Given the description of an element on the screen output the (x, y) to click on. 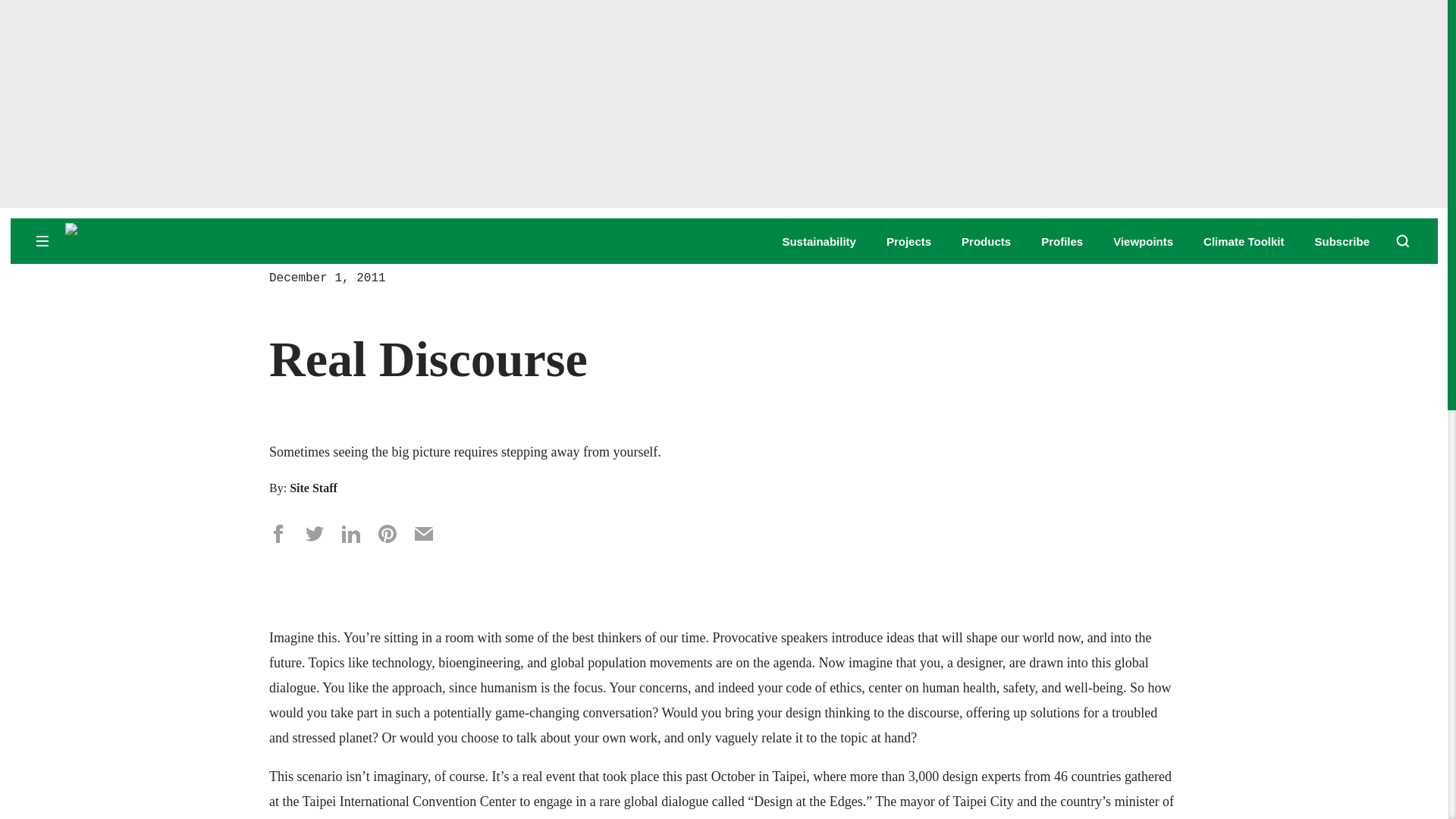
Climate Toolkit (1244, 241)
Projects (908, 241)
Products (985, 241)
Subscribe (1342, 241)
Sustainability (818, 241)
METROPOLIS (181, 240)
Profiles (1062, 241)
Viewpoints (1143, 241)
